Given the description of an element on the screen output the (x, y) to click on. 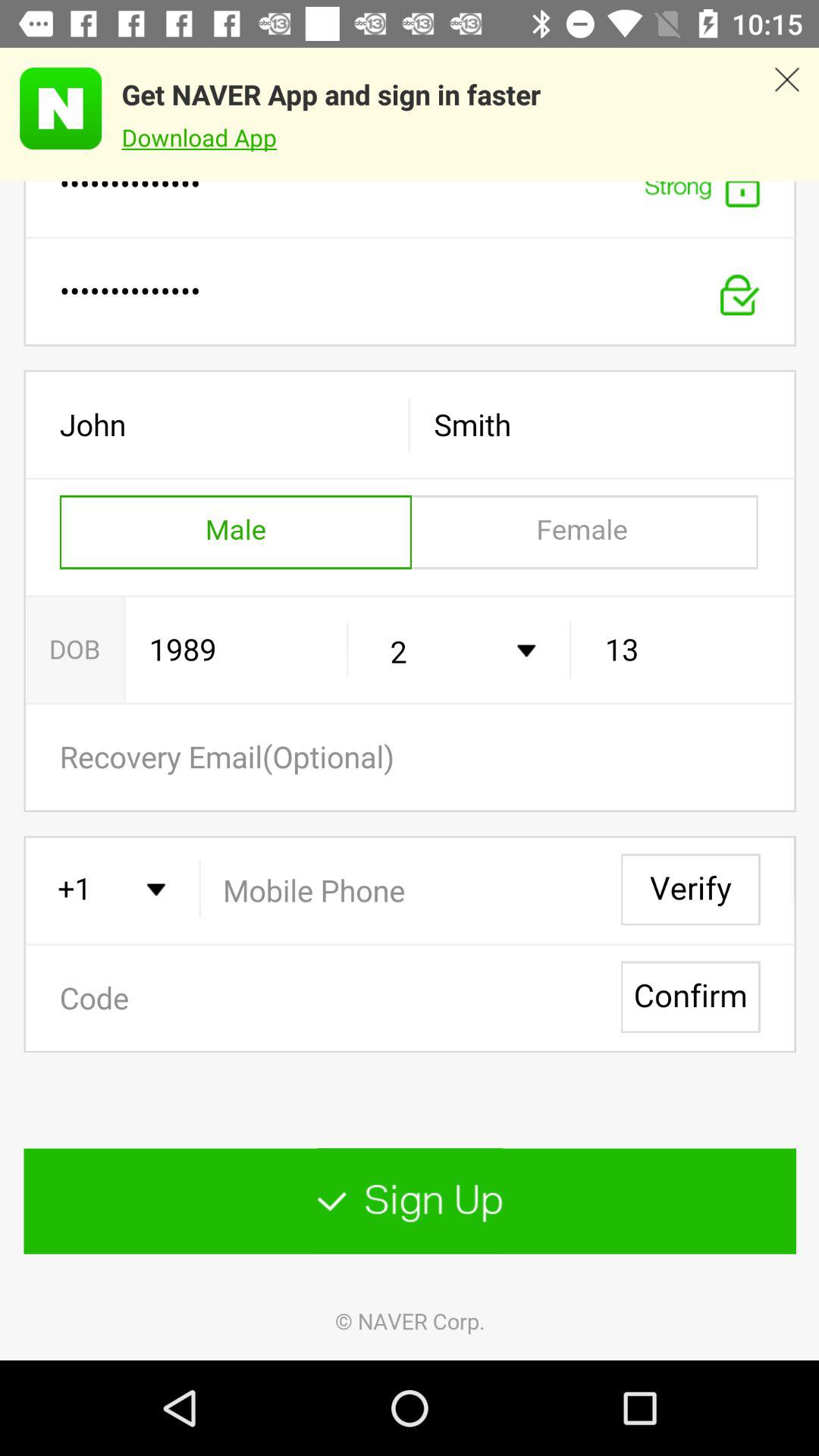
file option (409, 770)
